Given the description of an element on the screen output the (x, y) to click on. 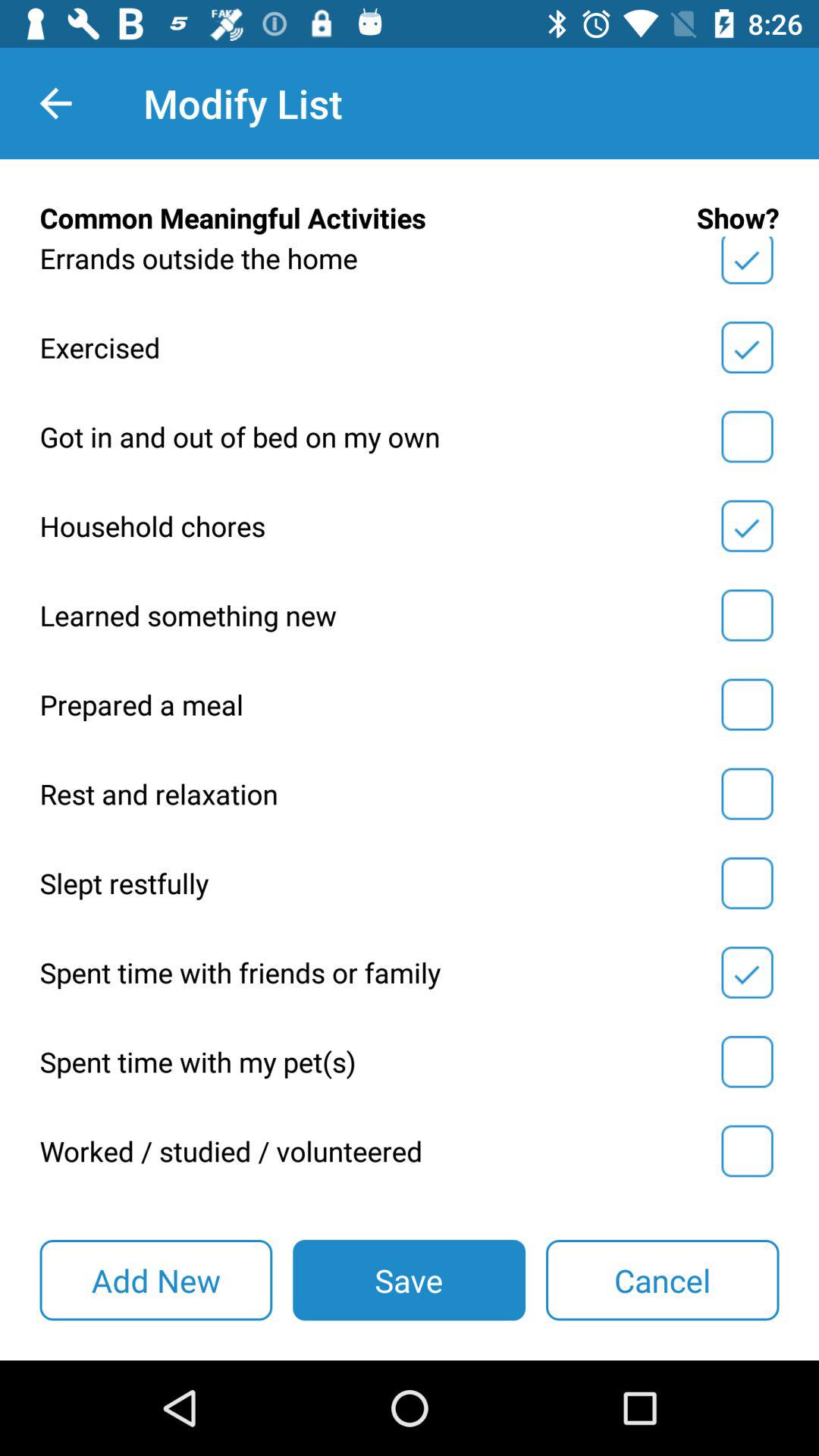
check off list item (747, 436)
